Given the description of an element on the screen output the (x, y) to click on. 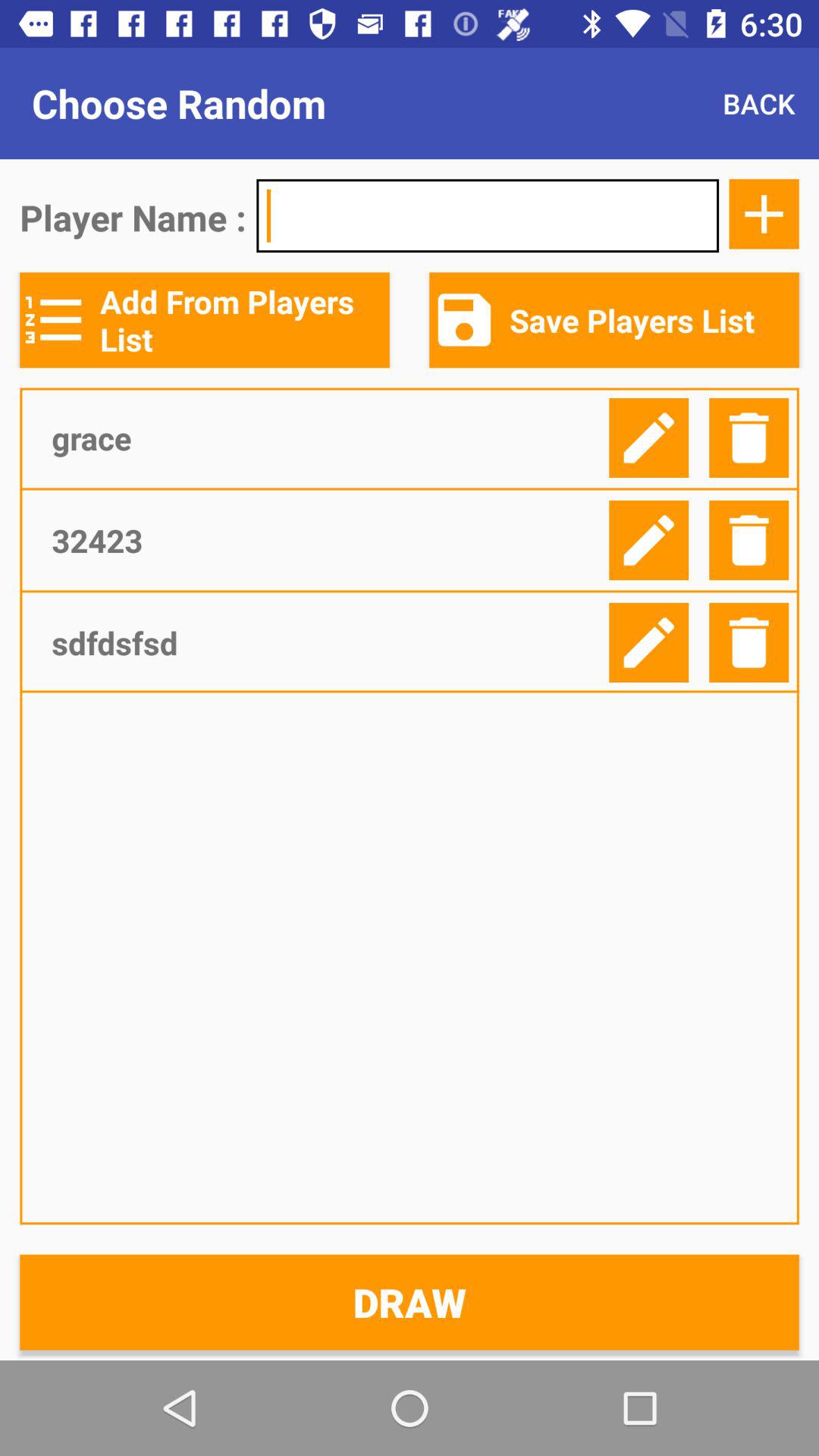
choose the icon above add from players icon (487, 215)
